Given the description of an element on the screen output the (x, y) to click on. 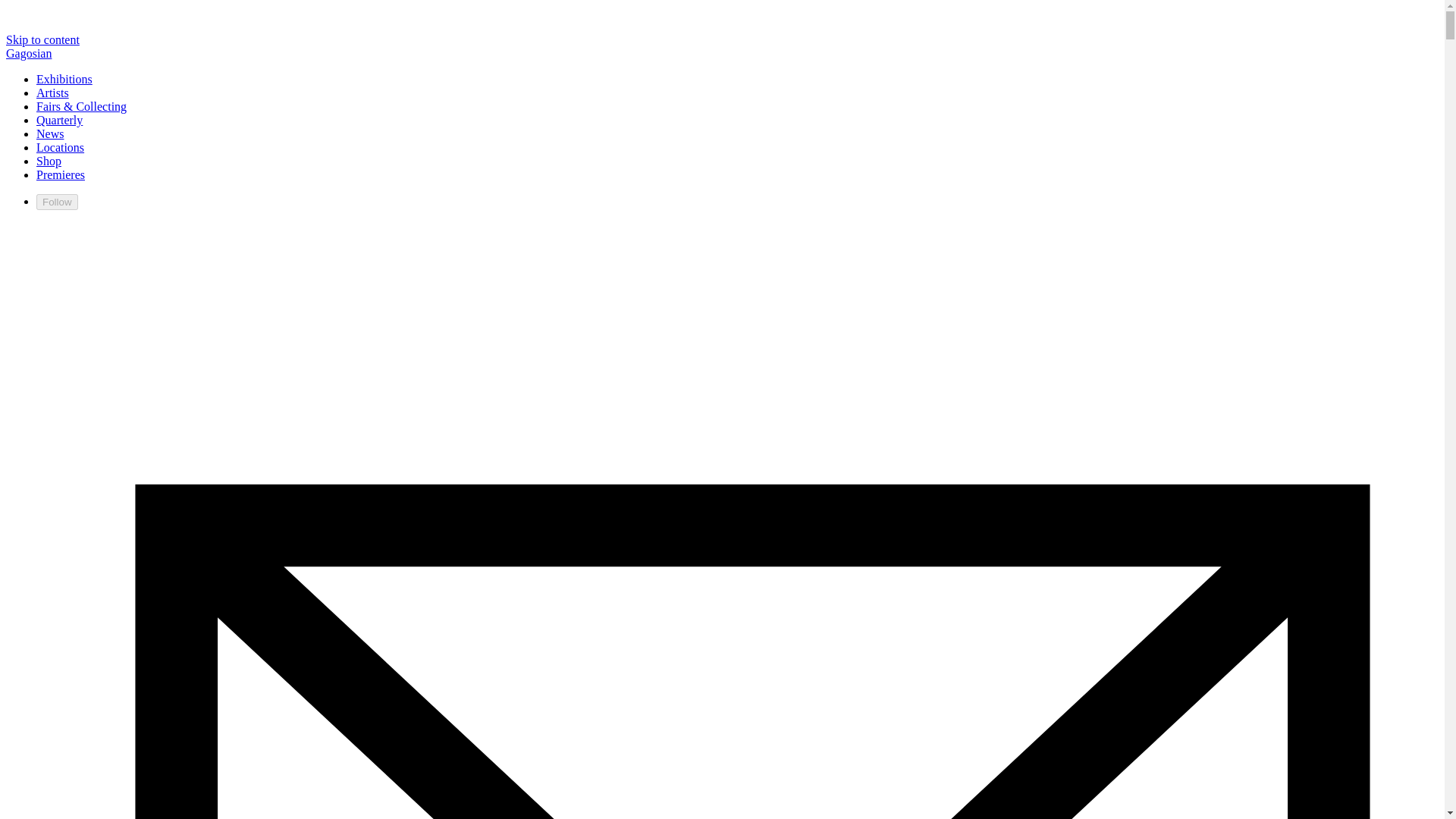
Premieres (60, 174)
Skip to content (42, 39)
Exhibitions (64, 78)
Shop (48, 160)
News (50, 133)
Locations (60, 146)
Artists (52, 92)
Follow (57, 201)
Quarterly (59, 119)
Gagosian (27, 52)
